Given the description of an element on the screen output the (x, y) to click on. 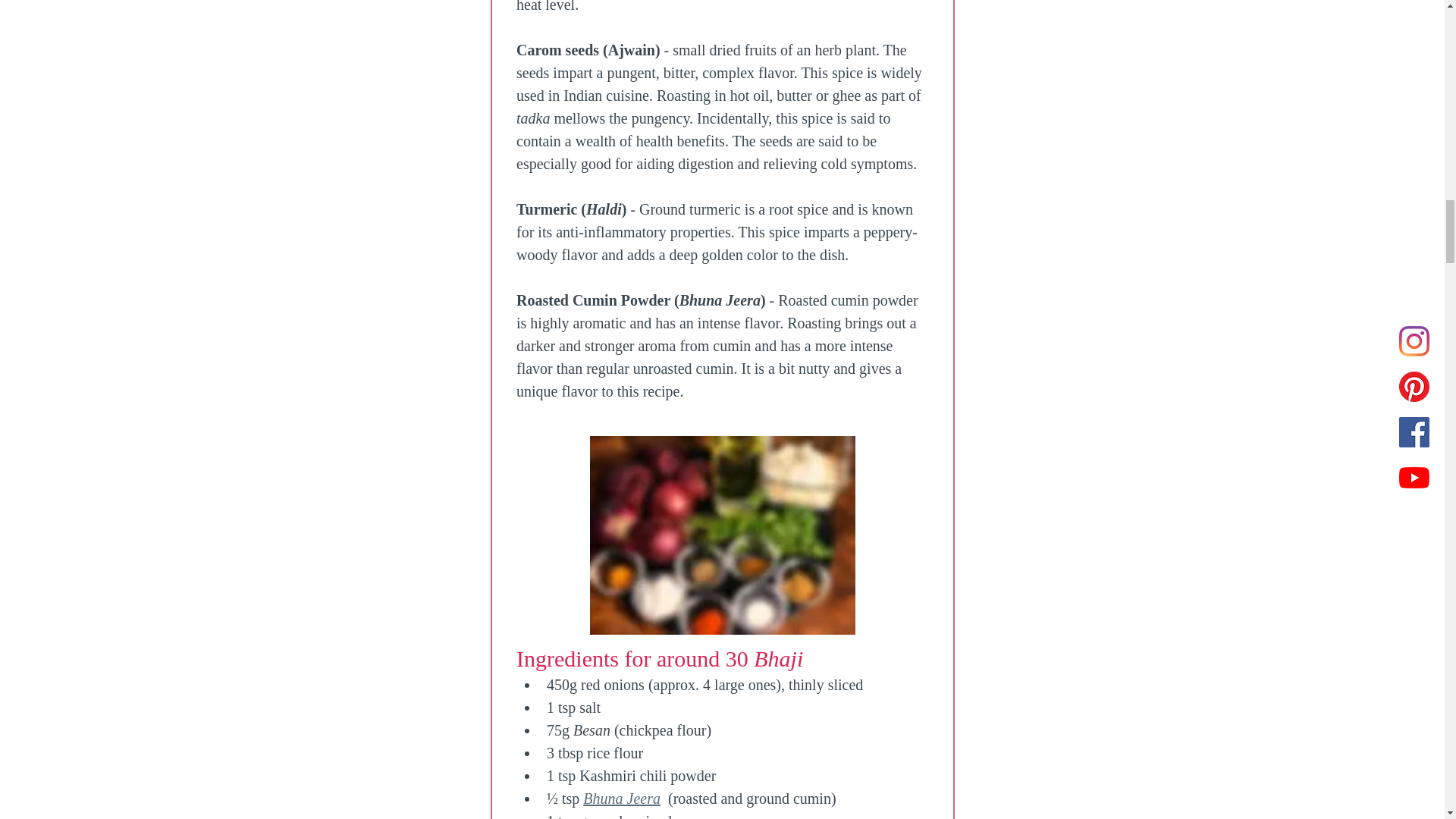
Bhuna Jeera (622, 798)
